Given the description of an element on the screen output the (x, y) to click on. 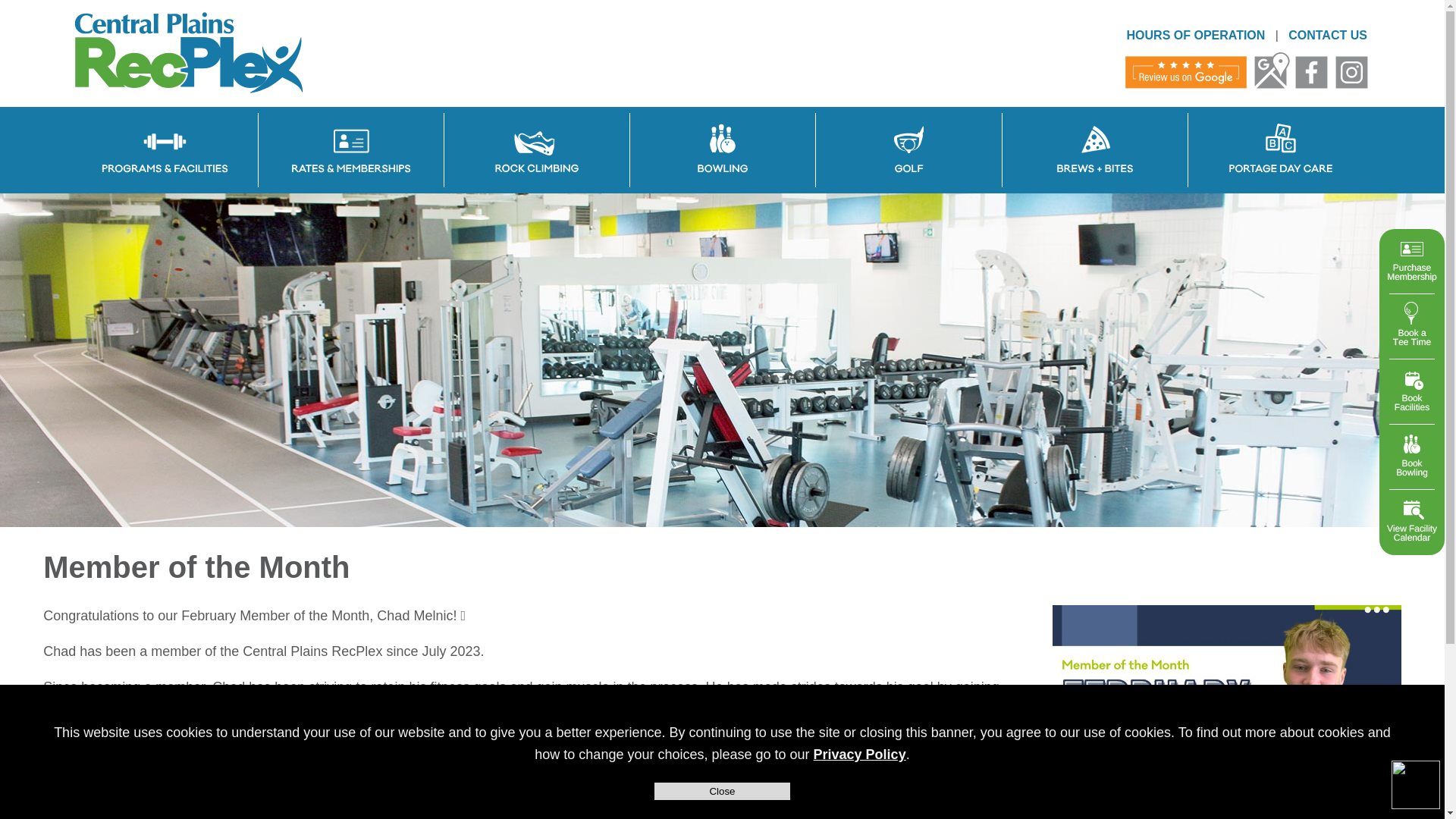
CONTACT US (1327, 34)
Privacy Policy (859, 754)
HOURS OF OPERATION (1195, 34)
